Given the description of an element on the screen output the (x, y) to click on. 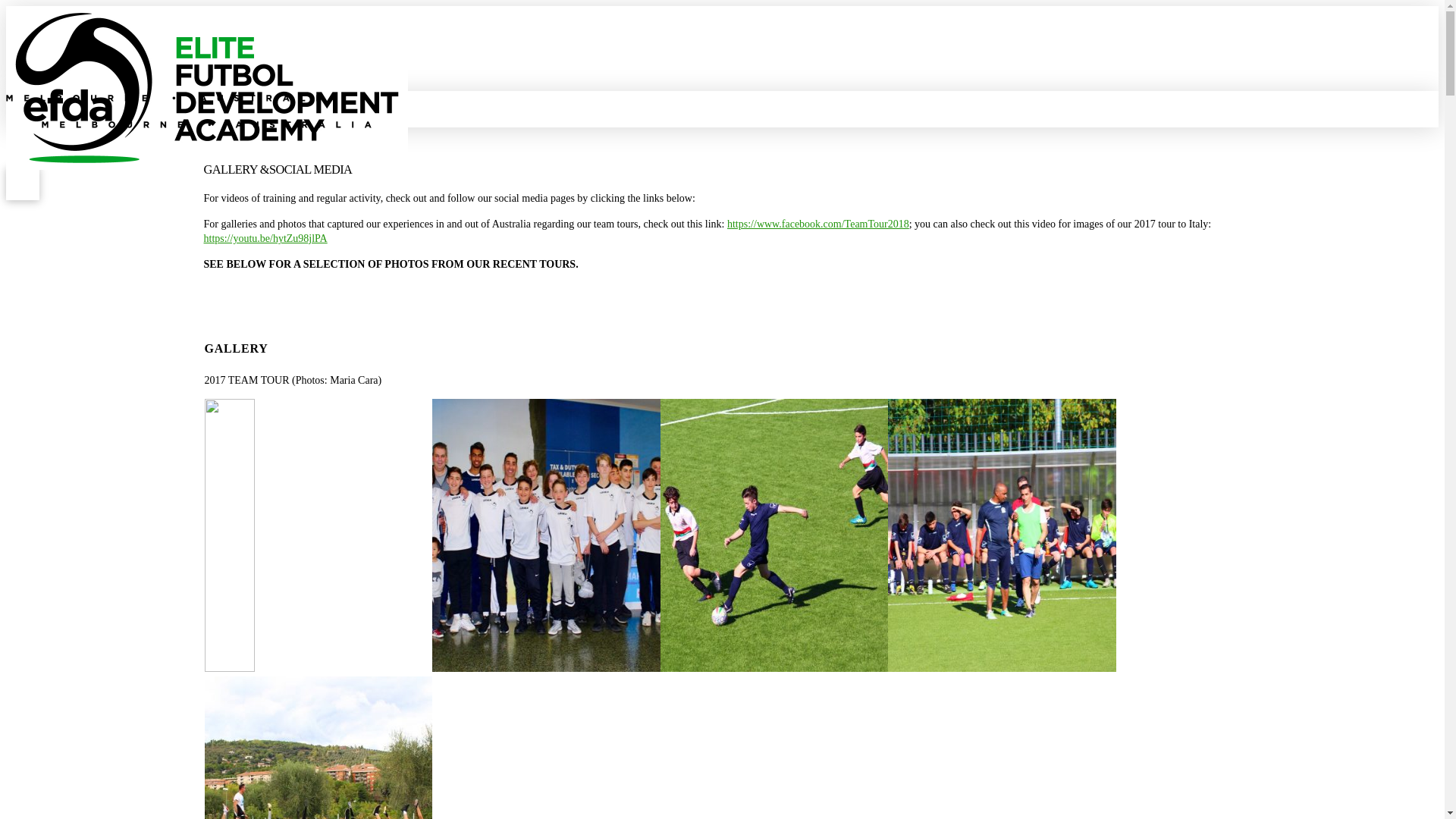
https://www.facebook.com/TeamTour2018 Element type: text (818, 223)
https://youtu.be/hytZu98jlPA Element type: text (264, 238)
